Given the description of an element on the screen output the (x, y) to click on. 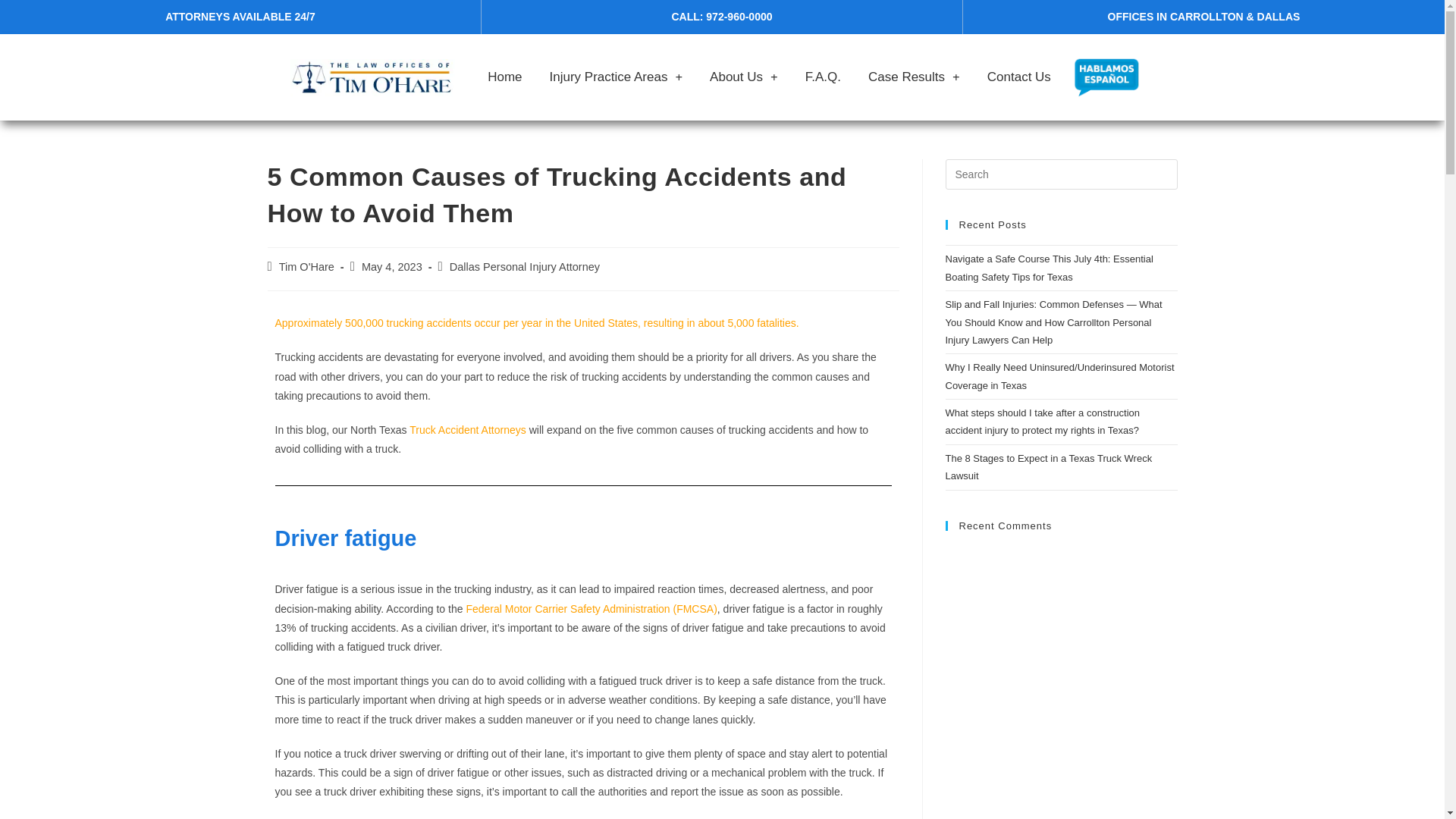
Injury Practice Areas (616, 76)
972-960-0000 (738, 16)
About Us (743, 76)
Posts by Tim O'Hare (306, 266)
Home (504, 76)
Case Results (914, 76)
F.A.Q. (823, 76)
Contact Us (1019, 76)
